Given the description of an element on the screen output the (x, y) to click on. 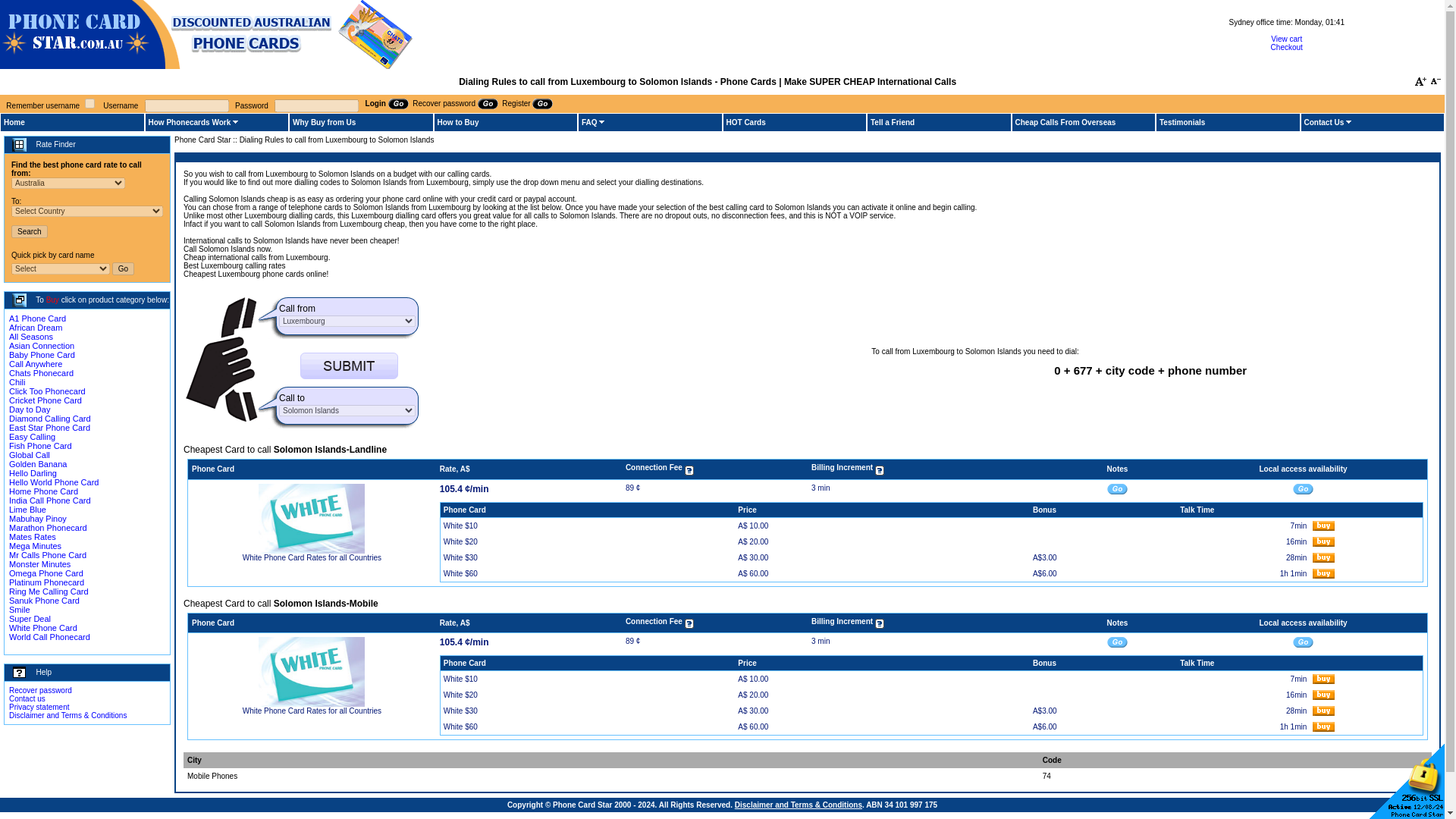
Easy Calling (31, 436)
Click Too Phonecard (46, 390)
How to Buy (457, 121)
Recover password (454, 103)
East Star Phone Card (49, 427)
Contact Us (1323, 121)
How to Buy (457, 121)
Chili (16, 381)
African Dream (35, 327)
Diamond Calling Card (49, 418)
